Given the description of an element on the screen output the (x, y) to click on. 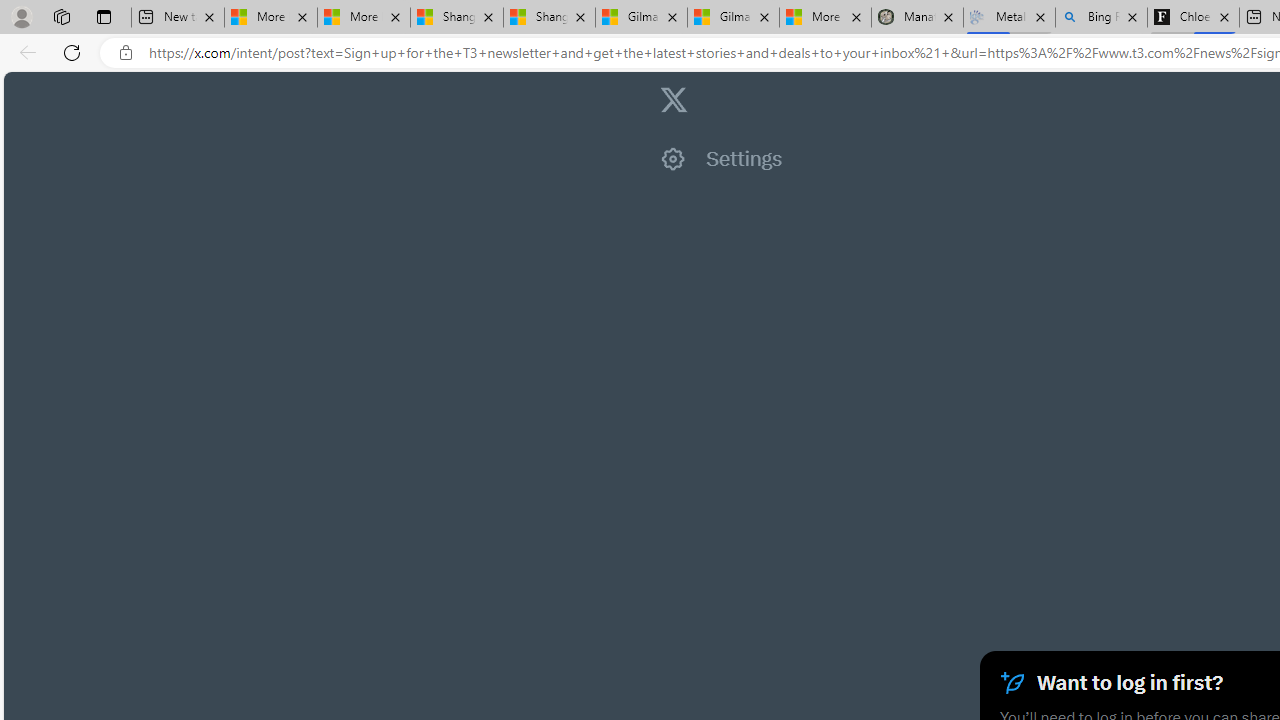
Bing Real Estate - Home sales and rental listings (1101, 17)
